Given the description of an element on the screen output the (x, y) to click on. 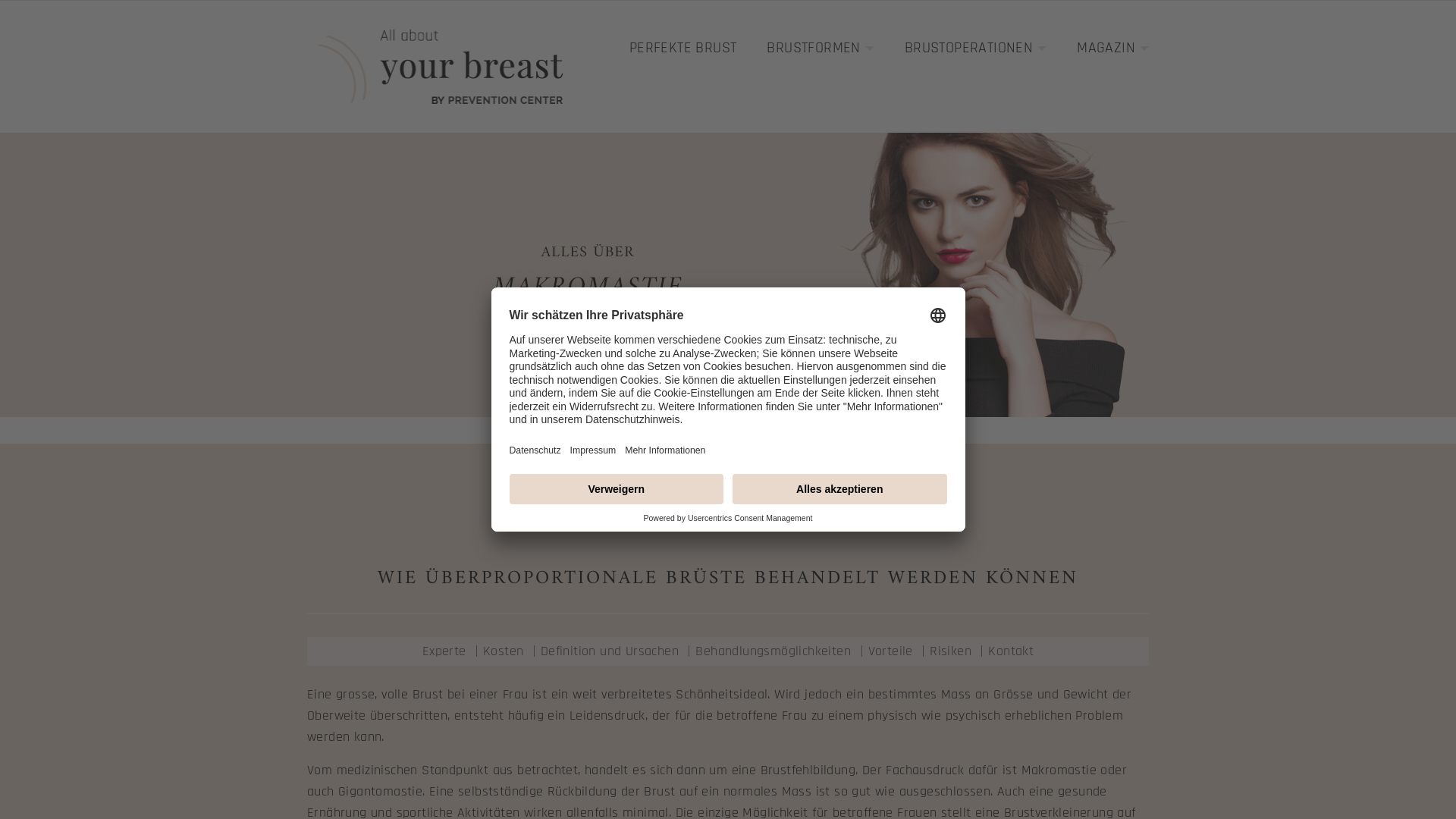
BRUSTFORMEN Element type: text (819, 47)
MAGAZIN Element type: text (1112, 47)
Vorteile Element type: text (889, 650)
PERFEKTE BRUST Element type: text (683, 47)
Risiken Element type: text (950, 650)
Definition und Ursachen Element type: text (609, 650)
Kosten Element type: text (503, 650)
Experte Element type: text (444, 650)
BRUSTOPERATIONEN Element type: text (975, 47)
Kontakt Element type: text (1010, 650)
